Given the description of an element on the screen output the (x, y) to click on. 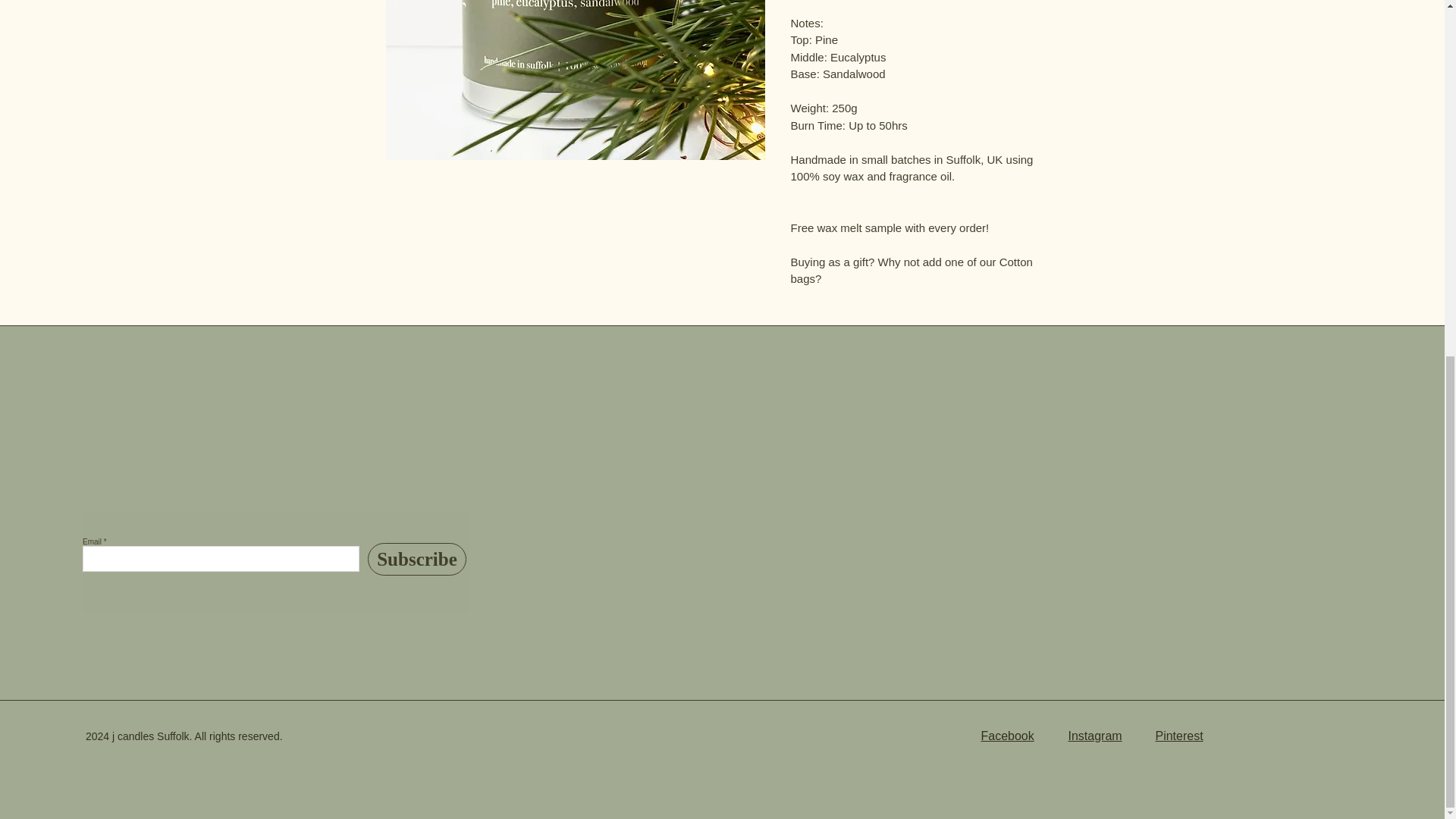
Subscribe (416, 558)
Instagram (1094, 735)
Facebook (1006, 735)
Pinterest (1178, 735)
